Given the description of an element on the screen output the (x, y) to click on. 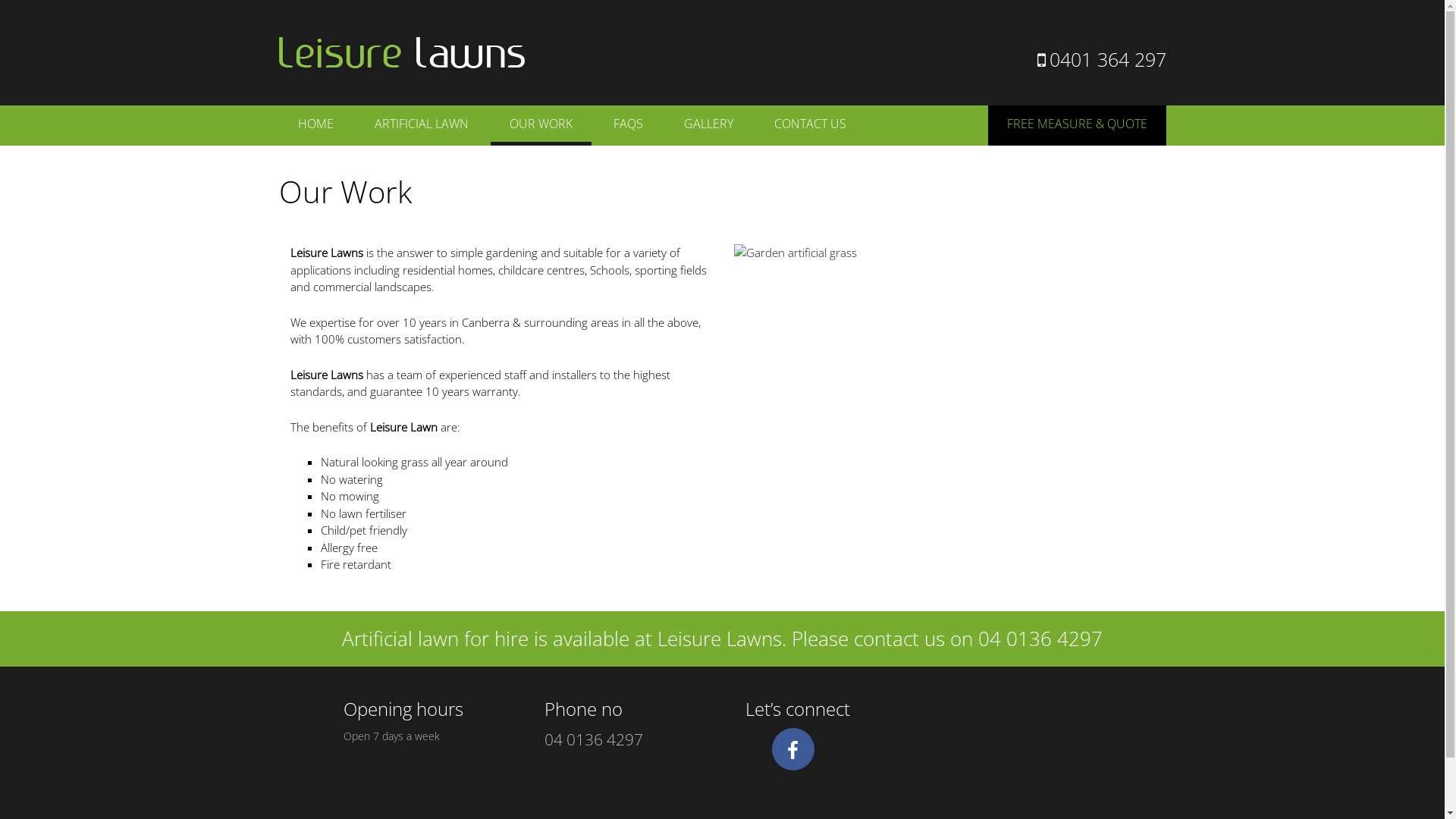
04 0136 4297 Element type: text (593, 738)
HOME Element type: text (315, 123)
0401 364 297 Element type: text (1101, 59)
CONTACT US Element type: text (810, 123)
OUR WORK Element type: text (539, 125)
Garden artificial grass Element type: hover (944, 252)
04 0136 4297 Element type: text (1040, 638)
Skip to content Element type: text (317, 113)
FREE MEASURE & QUOTE Element type: text (1076, 125)
GALLERY Element type: text (707, 123)
ARTIFICIAL LAWN Element type: text (420, 123)
FAQS Element type: text (628, 123)
